Given the description of an element on the screen output the (x, y) to click on. 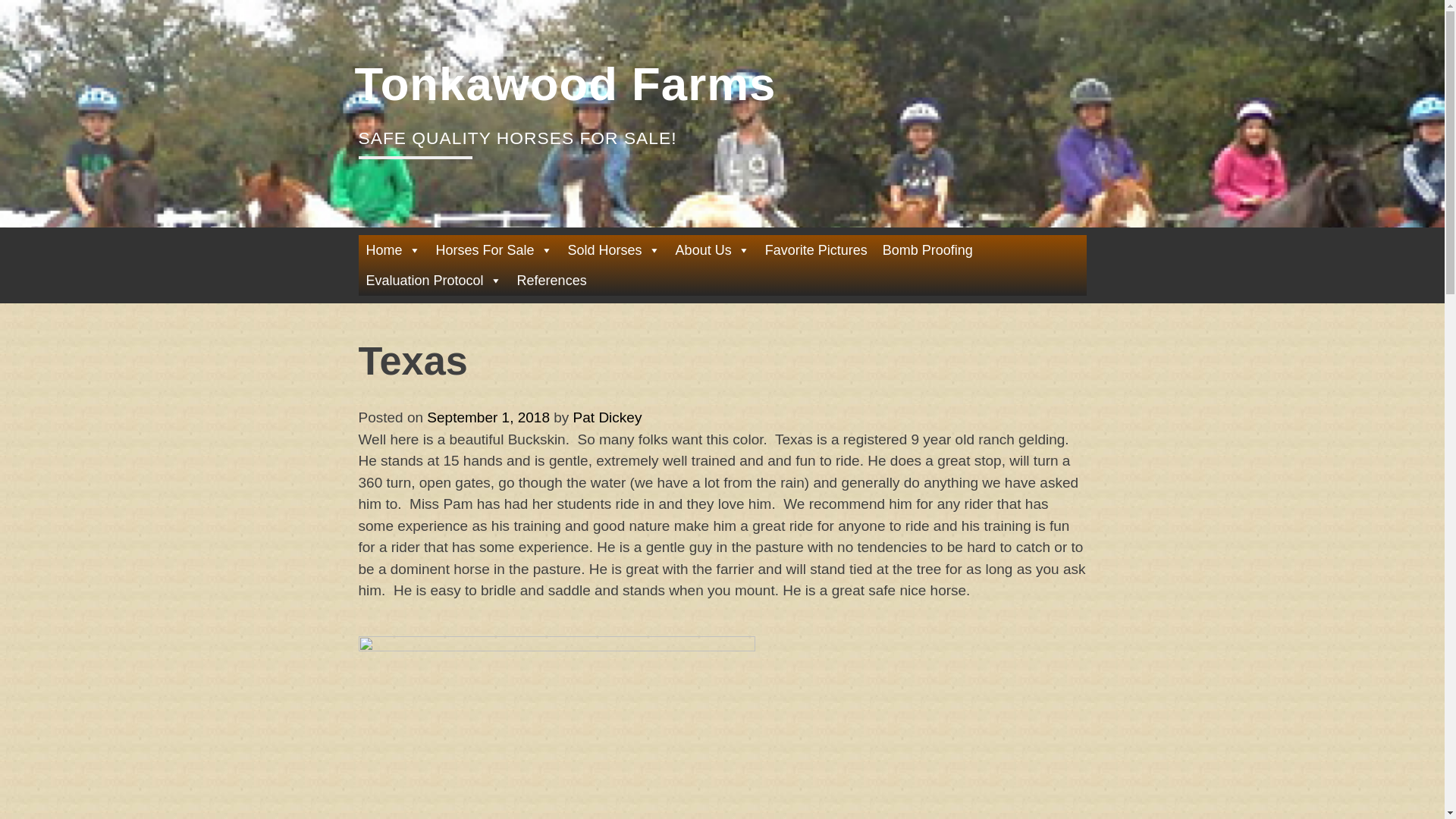
Sold Horses (614, 250)
Tonkawood Farms (565, 83)
Tonkawood Farms (565, 83)
September 1, 2018 (488, 417)
Evaluation Protocol (433, 280)
References (551, 280)
About Us (712, 250)
Favorite Pictures (816, 250)
Pat Dickey (607, 417)
Home (393, 250)
Horses For Sale (494, 250)
Bomb Proofing (927, 250)
